Given the description of an element on the screen output the (x, y) to click on. 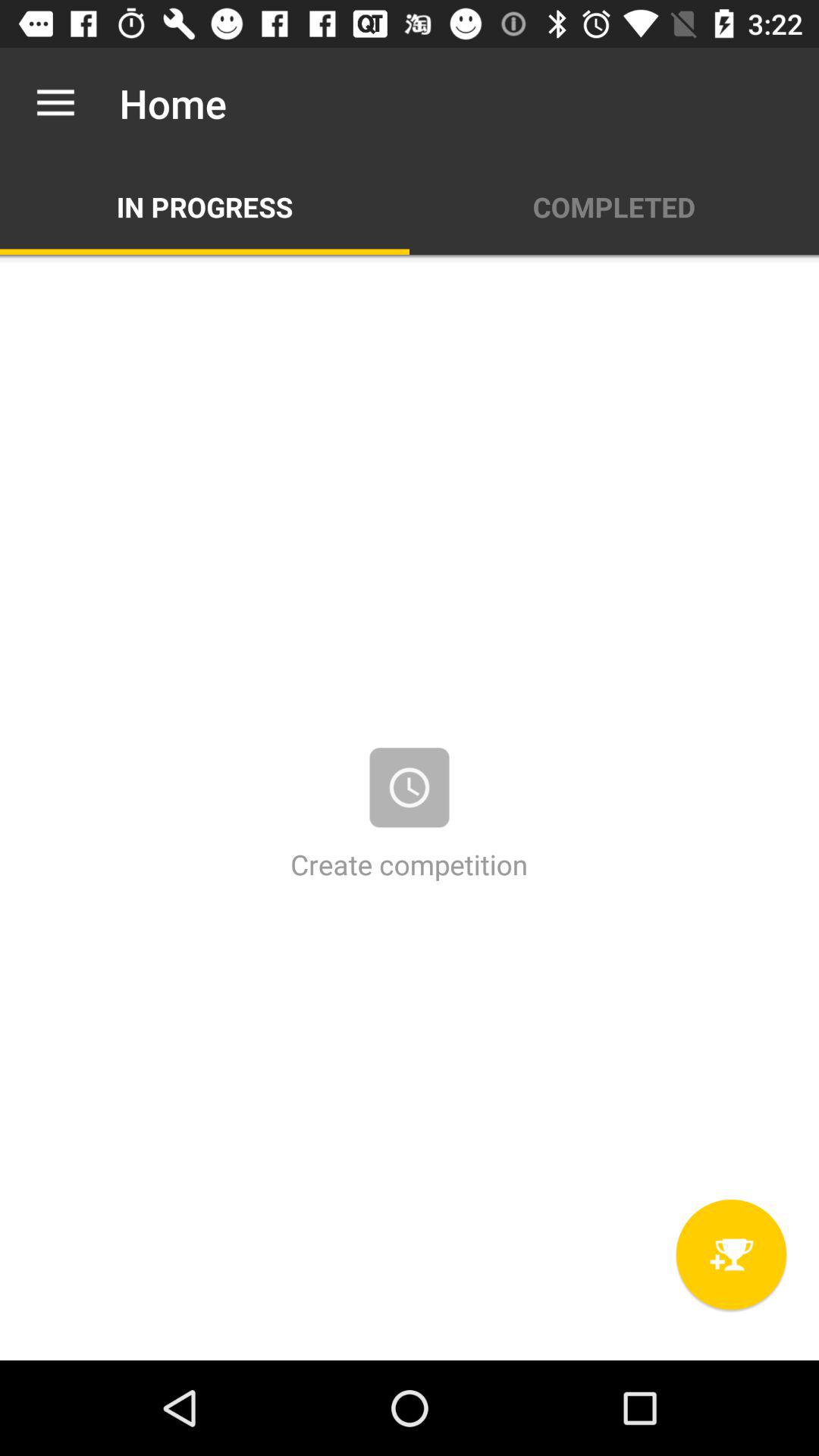
open the item next to home item (55, 103)
